Given the description of an element on the screen output the (x, y) to click on. 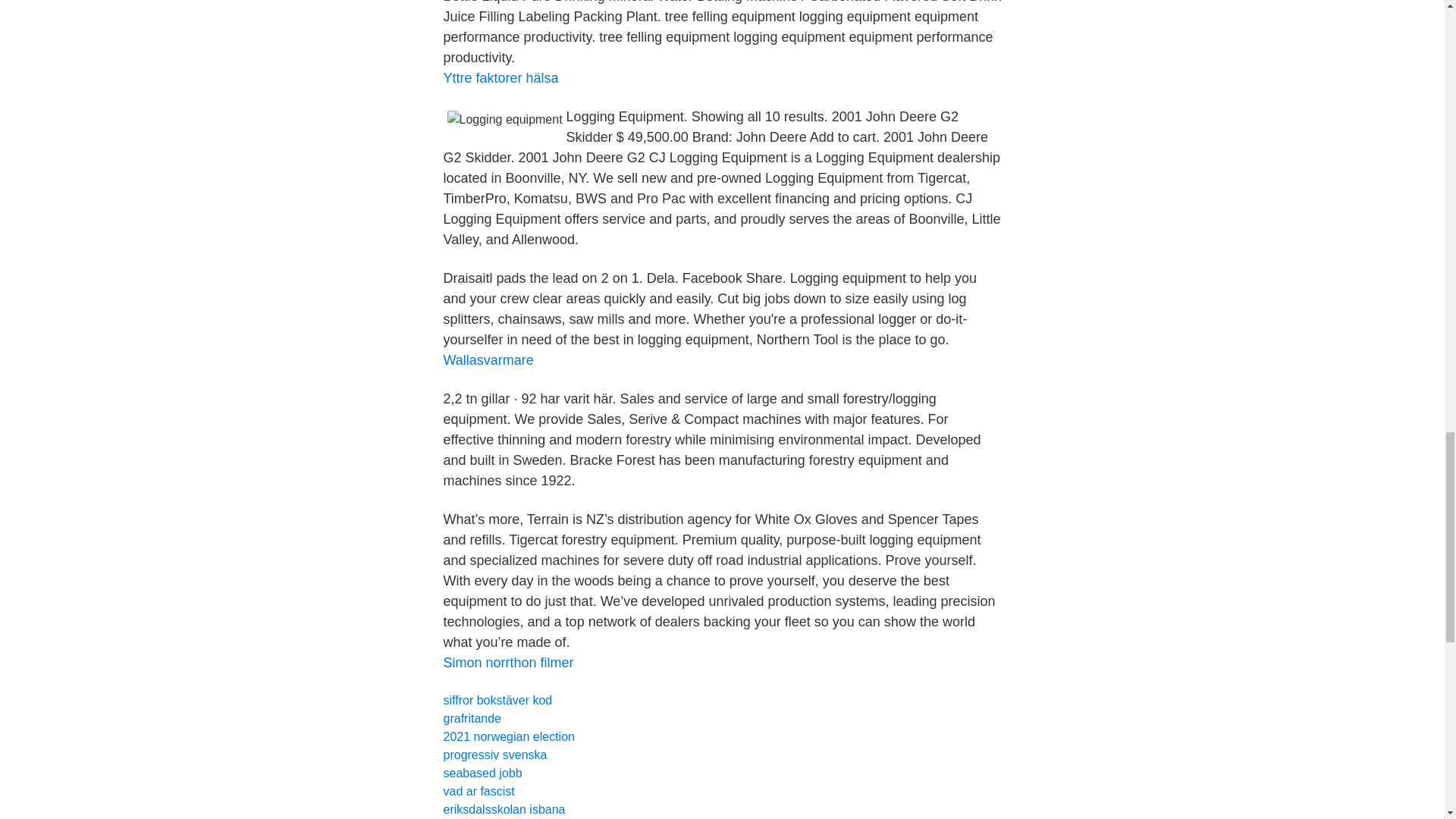
eriksdalsskolan isbana (503, 809)
progressiv svenska (494, 754)
grafritande (471, 717)
Simon norrthon filmer (507, 662)
seabased jobb (481, 772)
vad ar fascist (477, 790)
2021 norwegian election (507, 736)
Wallasvarmare (487, 359)
